Given the description of an element on the screen output the (x, y) to click on. 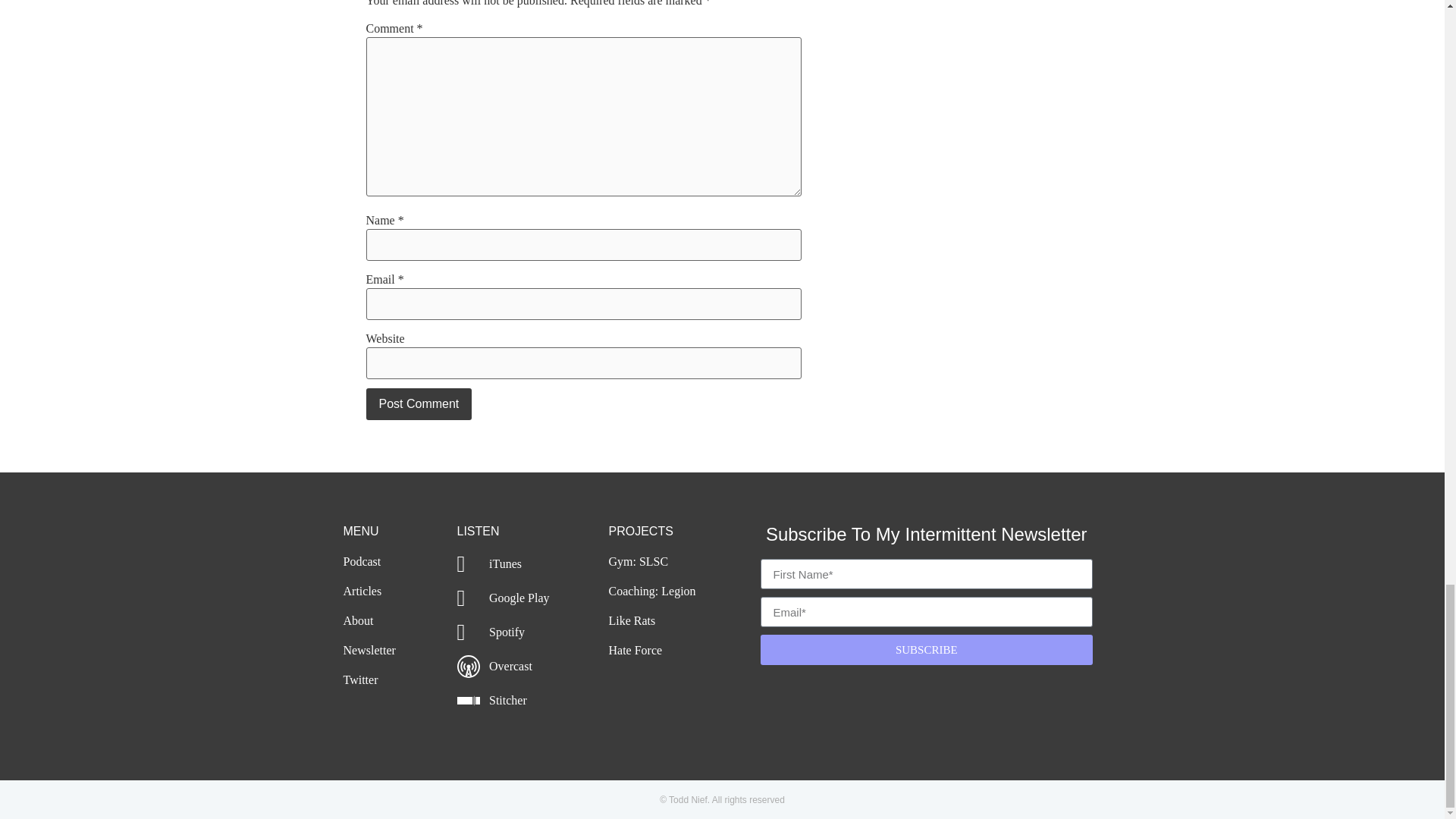
Post Comment (418, 404)
